Given the description of an element on the screen output the (x, y) to click on. 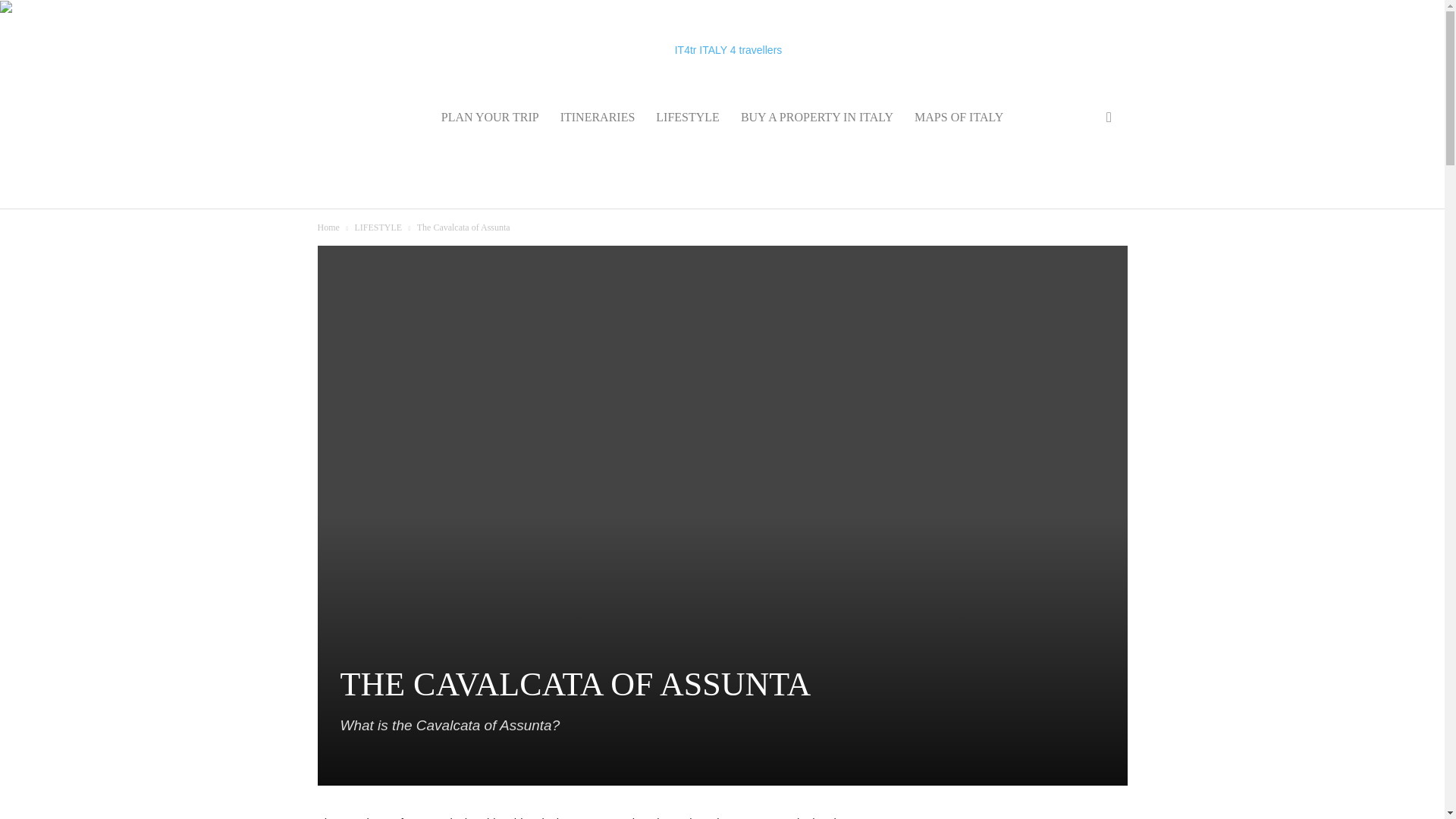
PLAN YOUR TRIP (490, 117)
ITINERARIES (598, 117)
